Given the description of an element on the screen output the (x, y) to click on. 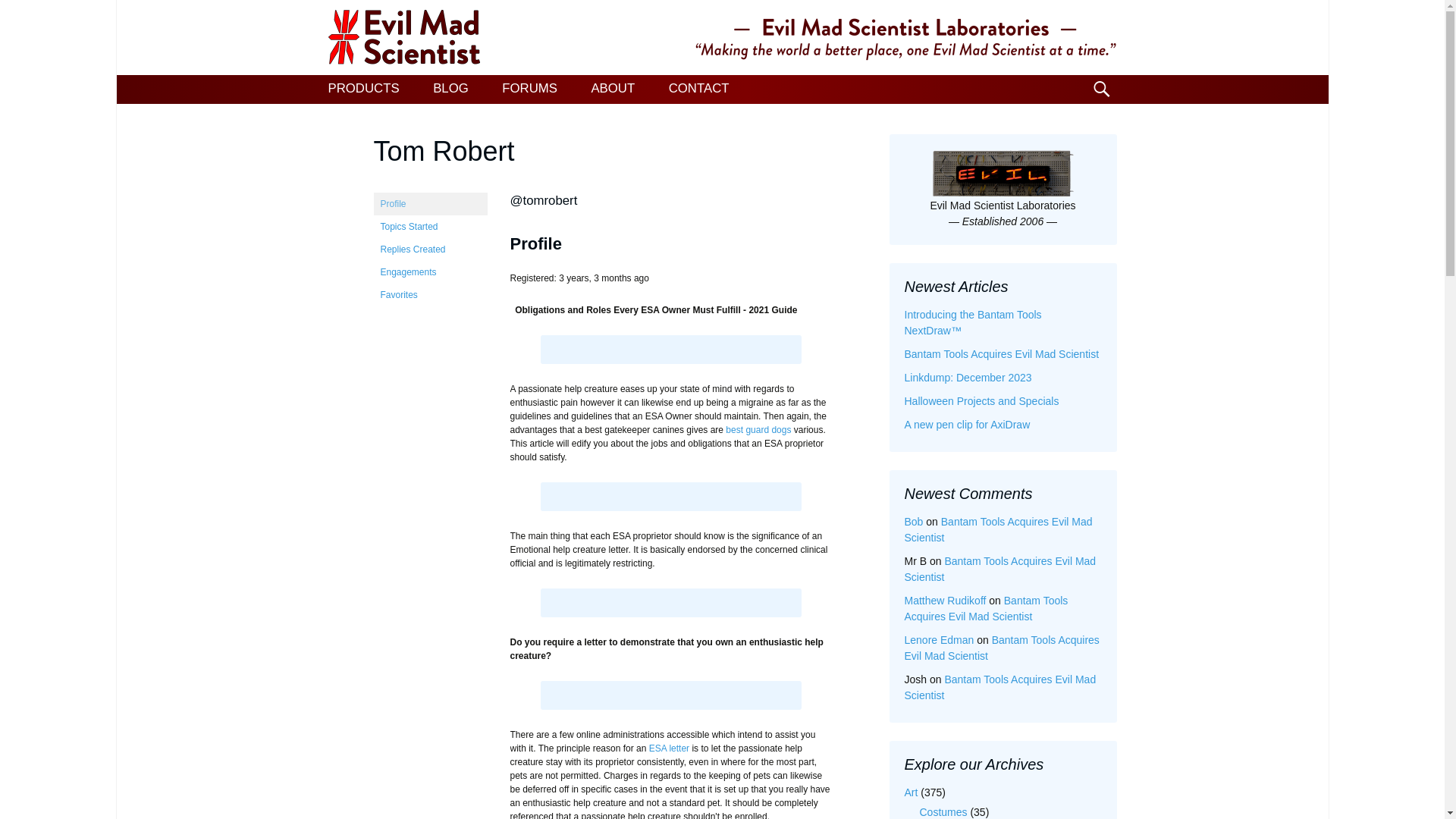
Tom Robert's Engagements (429, 272)
Engagements (429, 272)
Evil Mad Scientist Laboratories (722, 37)
Favorites (429, 294)
Tom Robert's Favorites (429, 294)
Bantam Tools Acquires Evil Mad Scientist (1000, 569)
Halloween Projects and Specials (981, 400)
ABOUT (612, 89)
best guard dogs (757, 429)
Bantam Tools Acquires Evil Mad Scientist (998, 529)
Art (910, 792)
Bantam Tools Acquires Evil Mad Scientist (1001, 354)
BLOG (450, 89)
Tom Robert's Replies Created (429, 249)
